Given the description of an element on the screen output the (x, y) to click on. 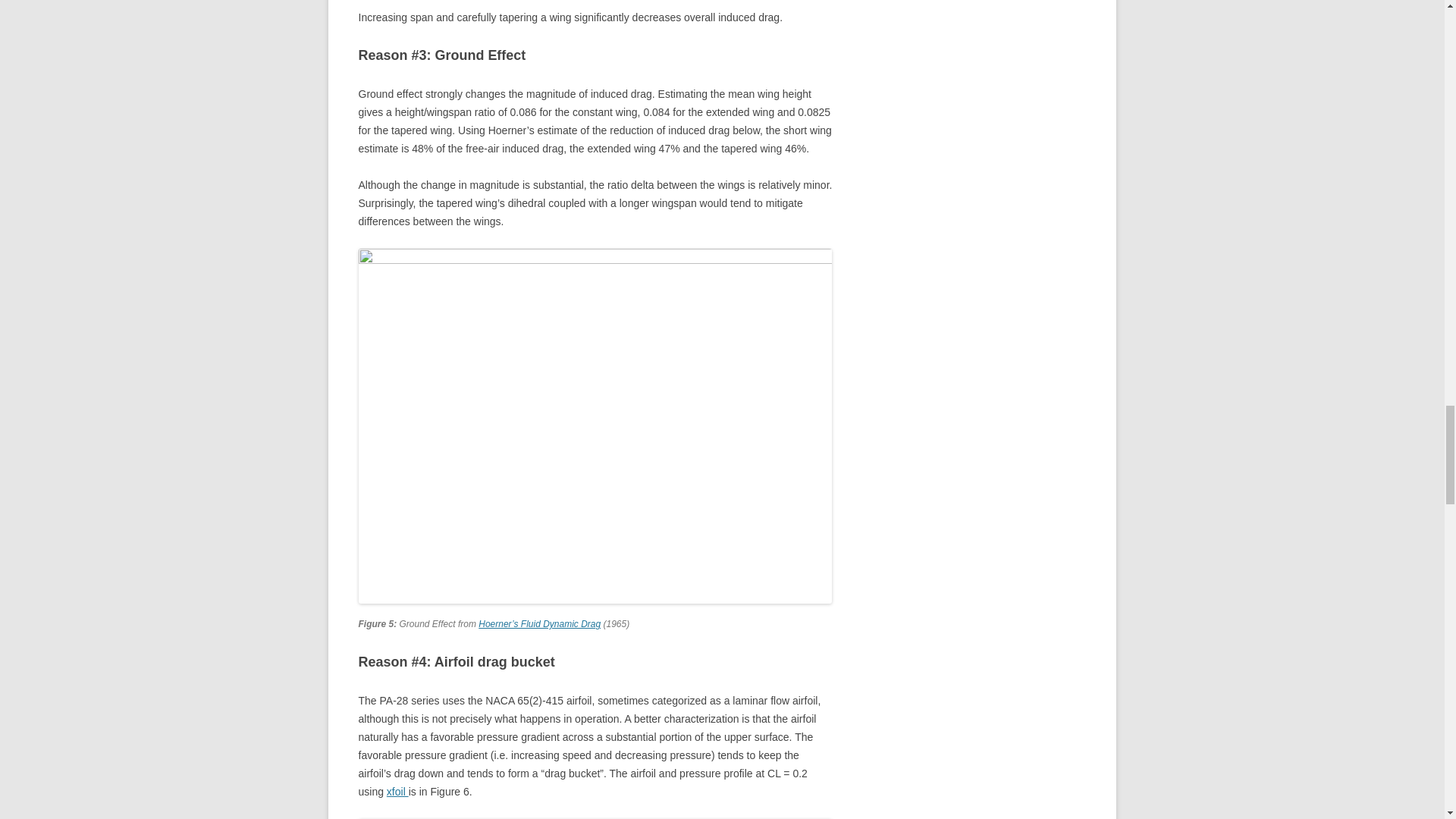
xfoil (398, 791)
